Given the description of an element on the screen output the (x, y) to click on. 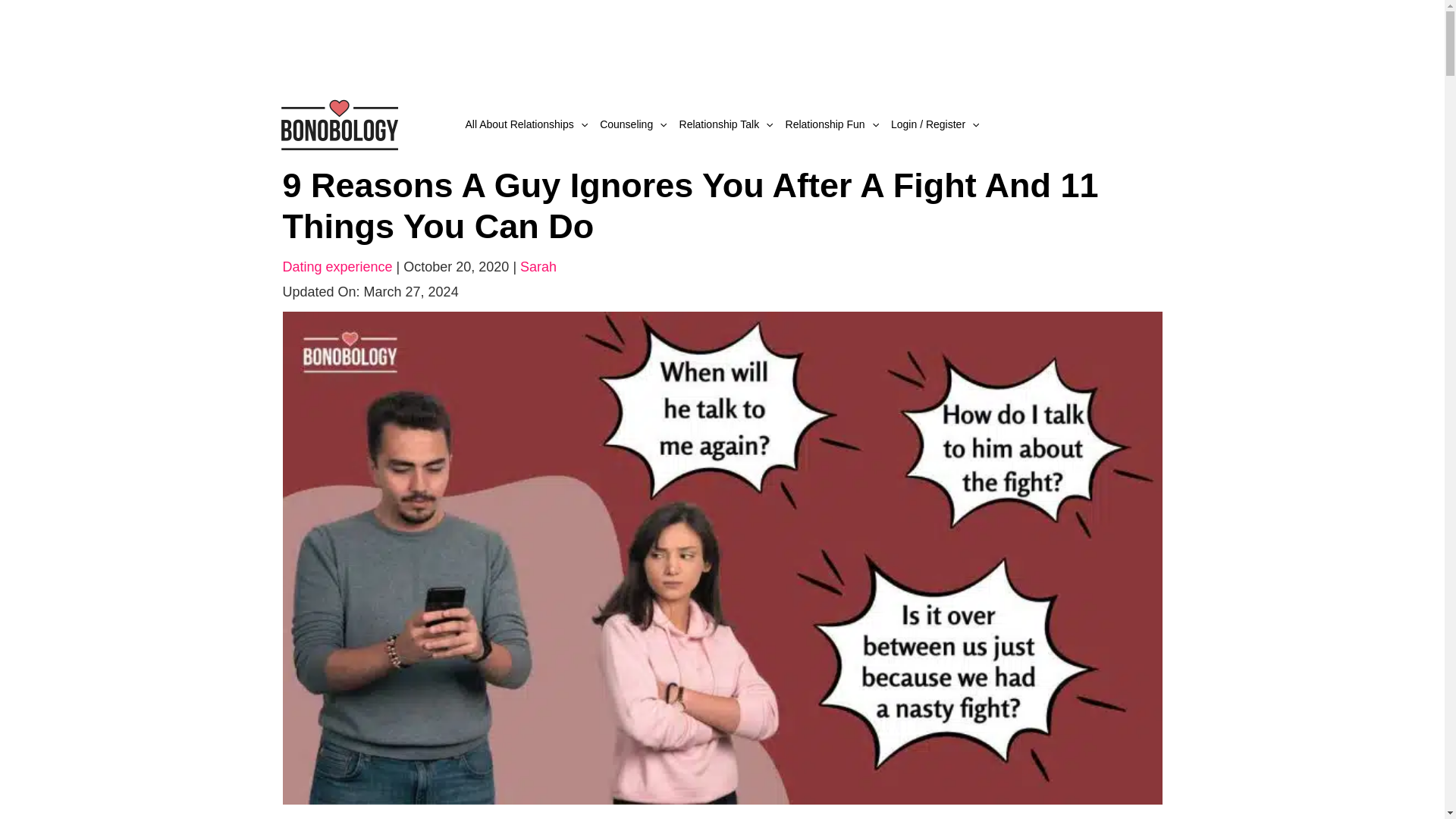
A Guy Ignores You After A Fight (721, 557)
All About Relationships (527, 124)
cropped-cropped-Bonobology-2.png (339, 123)
